Given the description of an element on the screen output the (x, y) to click on. 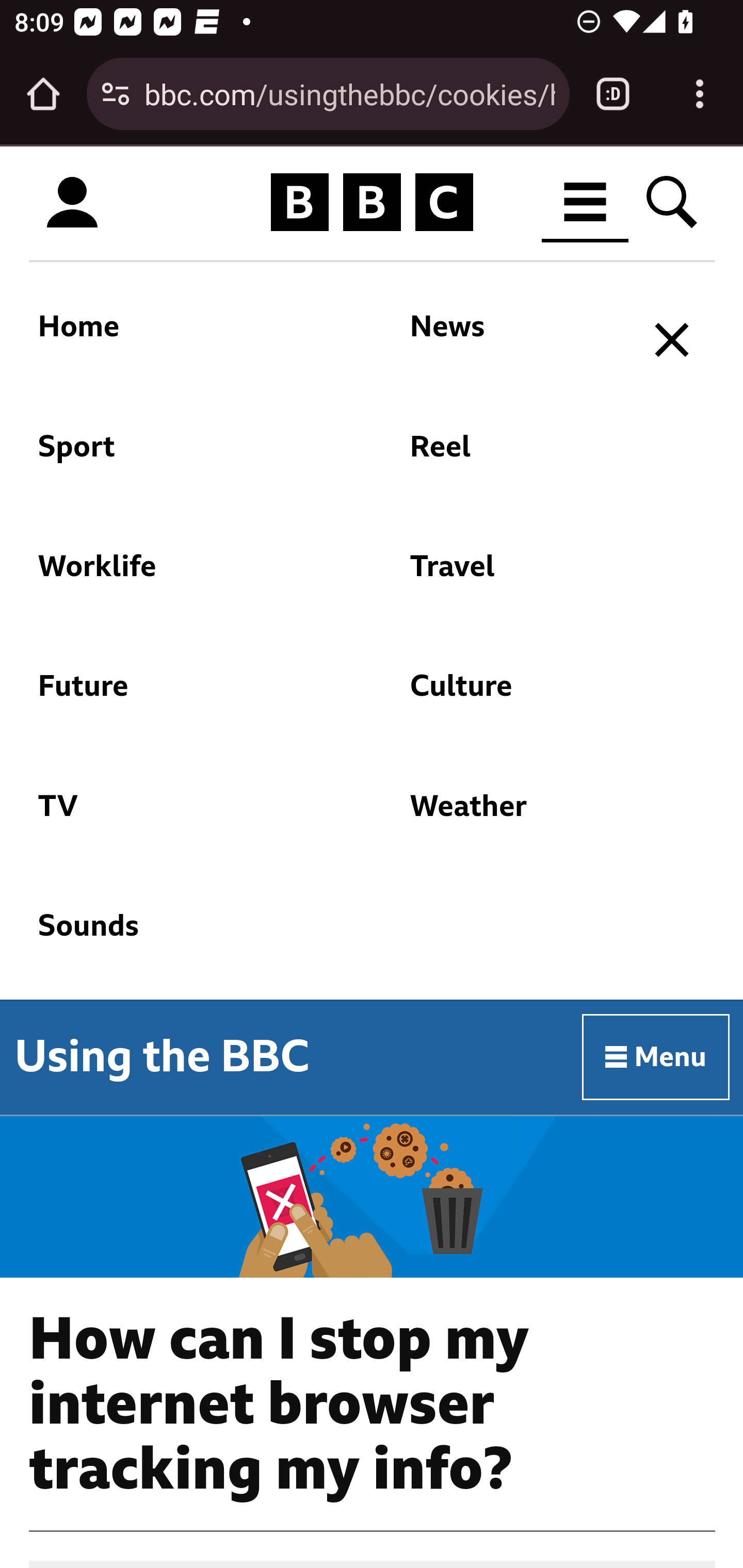
Open the home page (43, 93)
Connection is secure (115, 93)
Switch or close tabs (612, 93)
Customize and control Google Chrome (699, 93)
All BBC destinations menu (585, 202)
Search BBC (672, 202)
Sign in (71, 203)
Homepage (371, 203)
Home (178, 337)
News (515, 337)
Close menu (672, 340)
Sport (178, 456)
Reel (515, 456)
Worklife (178, 575)
Travel (515, 575)
Future (178, 696)
Culture (515, 696)
TV (178, 815)
Weather (515, 815)
Sounds (329, 935)
Menu (656, 1056)
Using the BBC (162, 1056)
